Given the description of an element on the screen output the (x, y) to click on. 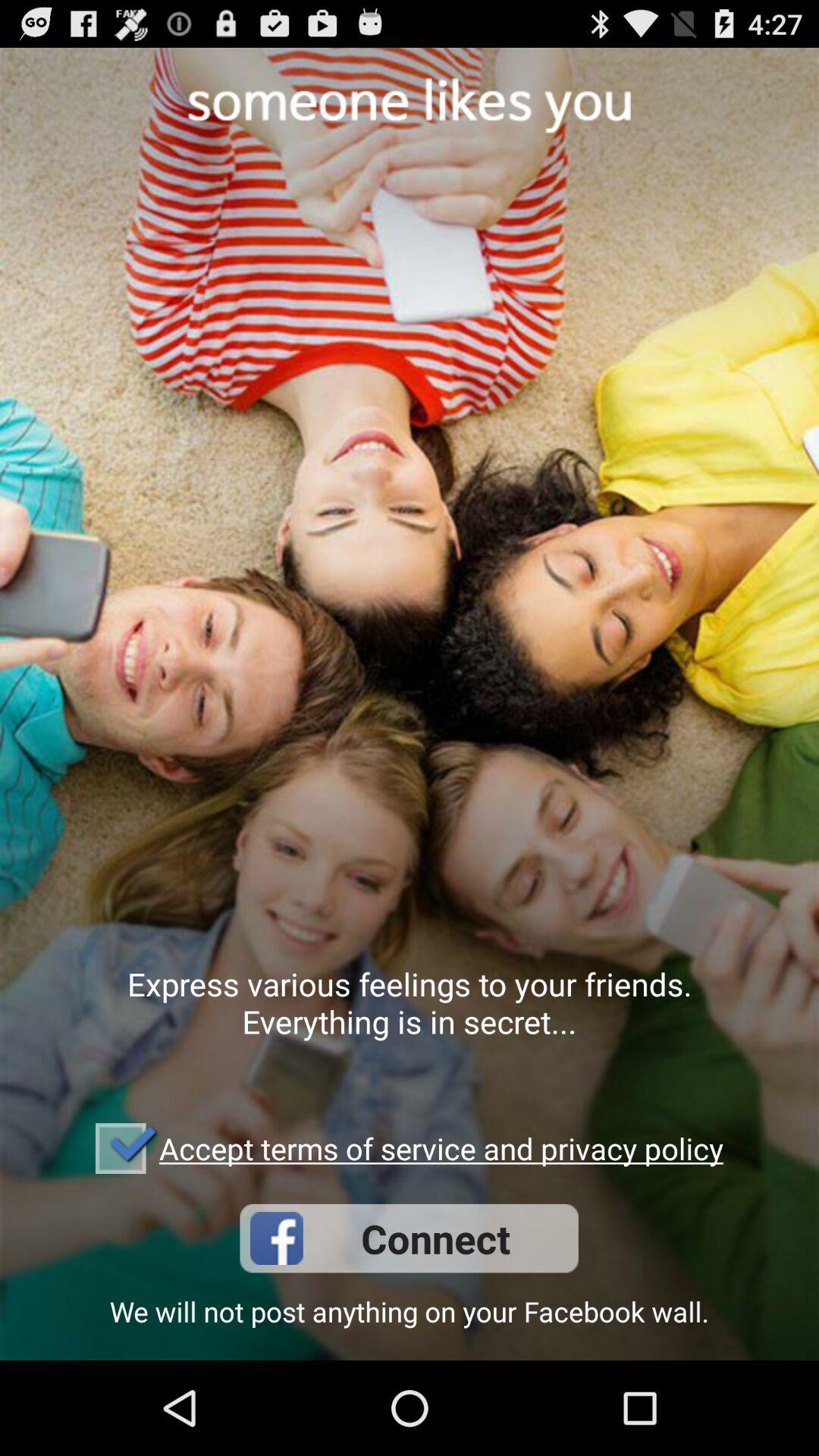
scroll to the accept terms of item (441, 1148)
